Given the description of an element on the screen output the (x, y) to click on. 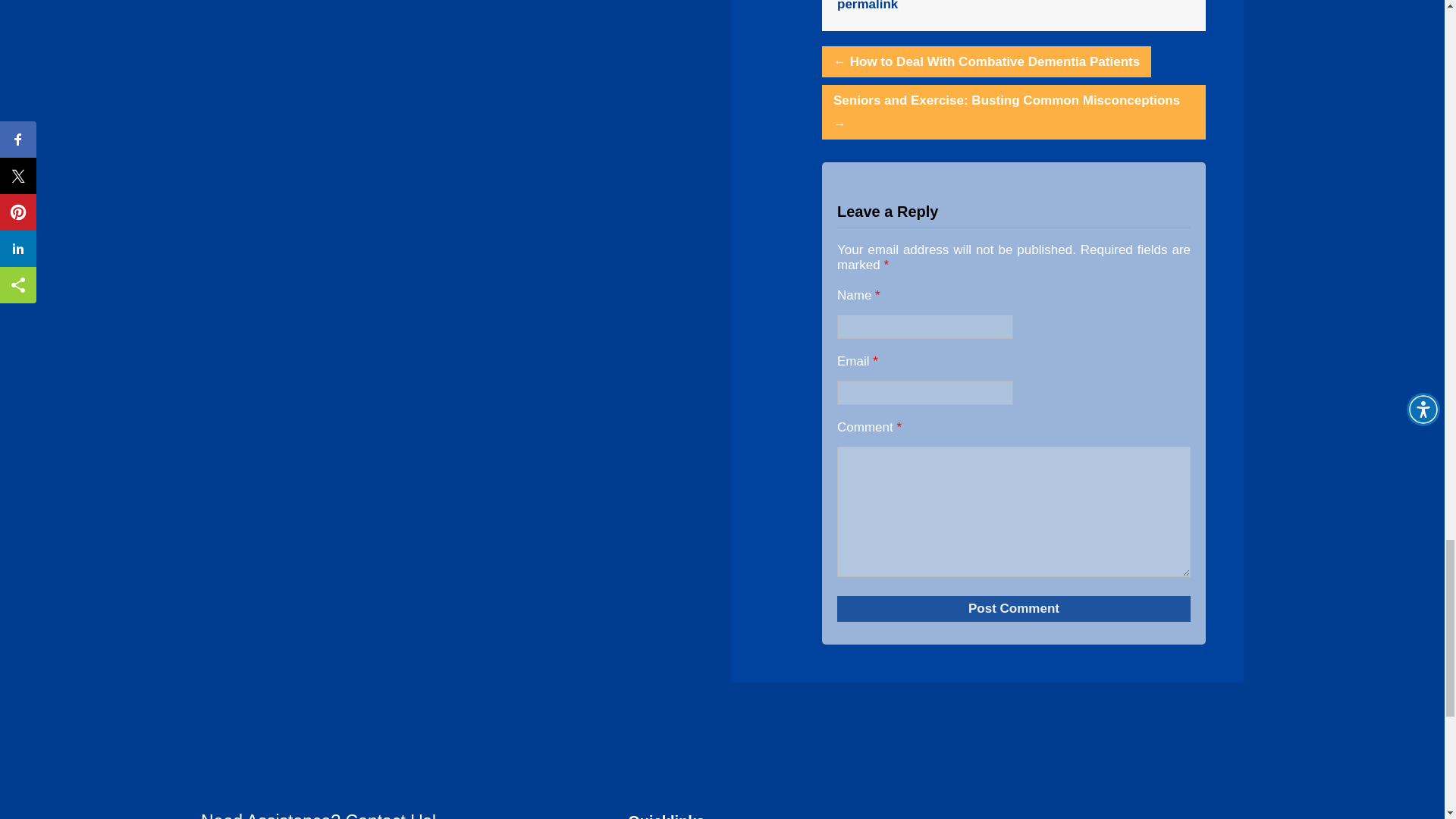
Post Comment (1014, 608)
Post Comment (1014, 608)
permalink (867, 5)
